Given the description of an element on the screen output the (x, y) to click on. 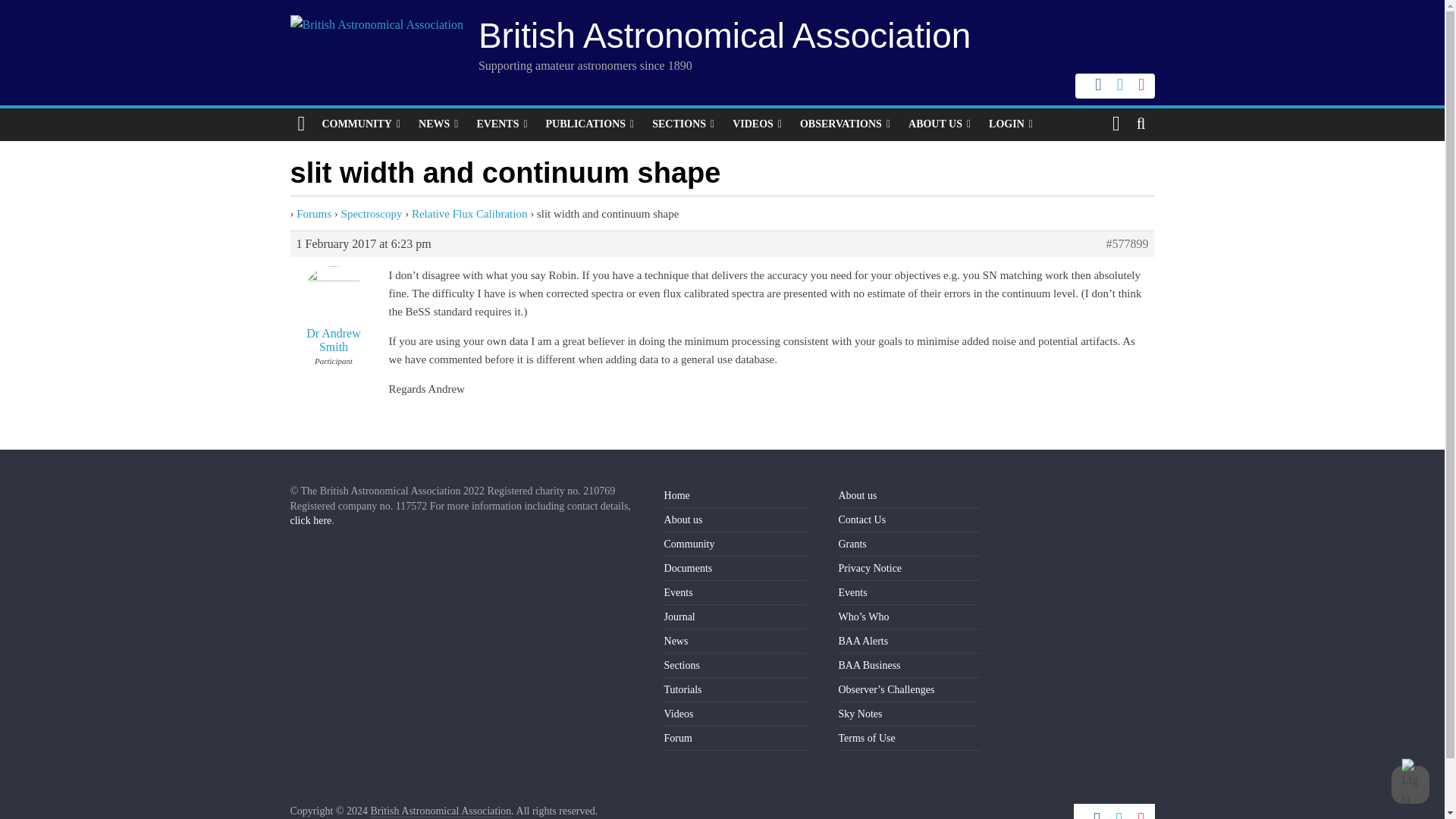
British Astronomical Association (440, 811)
View Dr Andrew Smith's profile (333, 305)
COMMUNITY (361, 124)
PUBLICATIONS (590, 124)
NEWS (438, 124)
SECTIONS (683, 124)
EVENTS (501, 124)
British Astronomical Association (725, 35)
British Astronomical Association (725, 35)
